Given the description of an element on the screen output the (x, y) to click on. 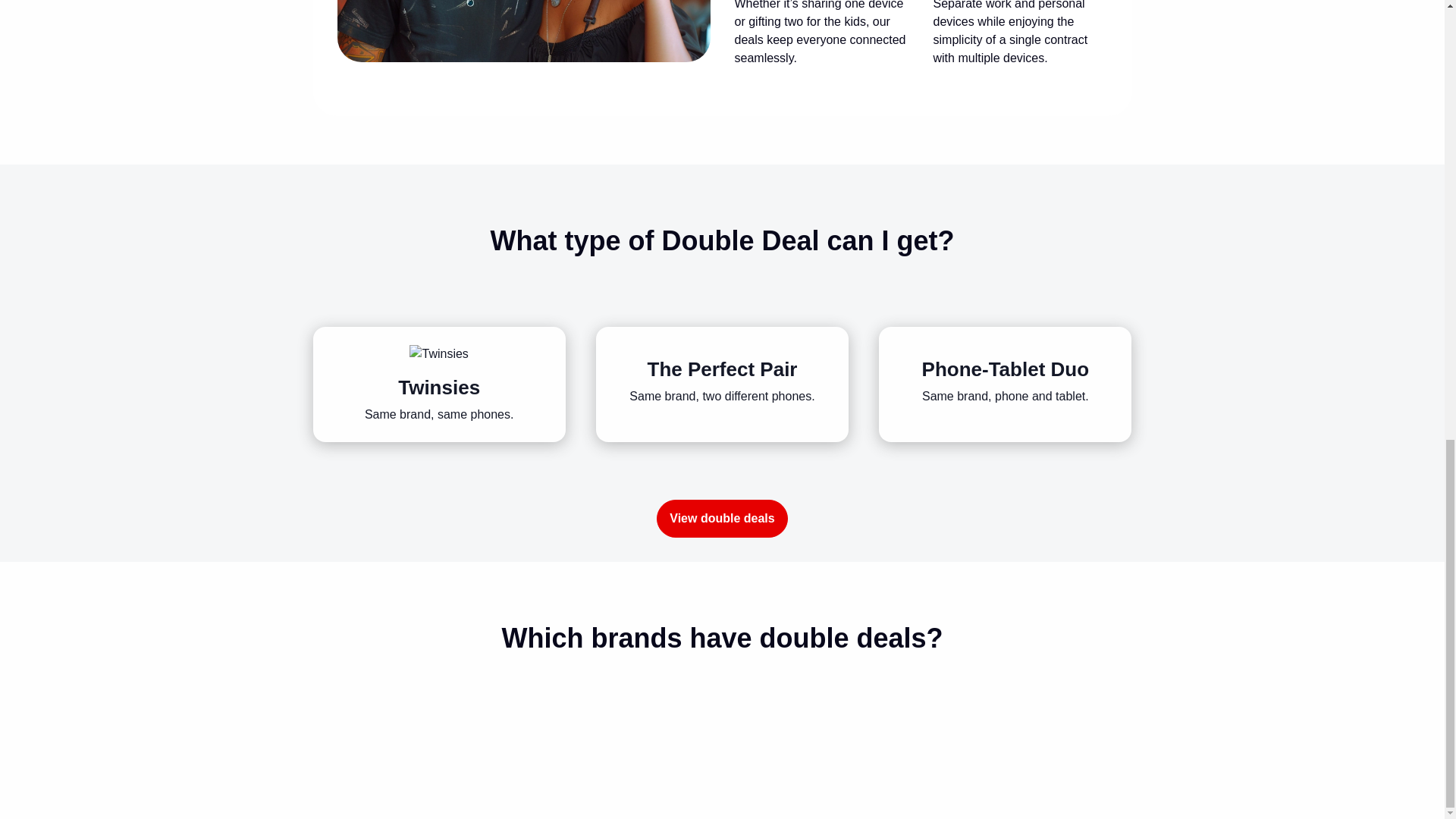
Twinsies (438, 353)
